Given the description of an element on the screen output the (x, y) to click on. 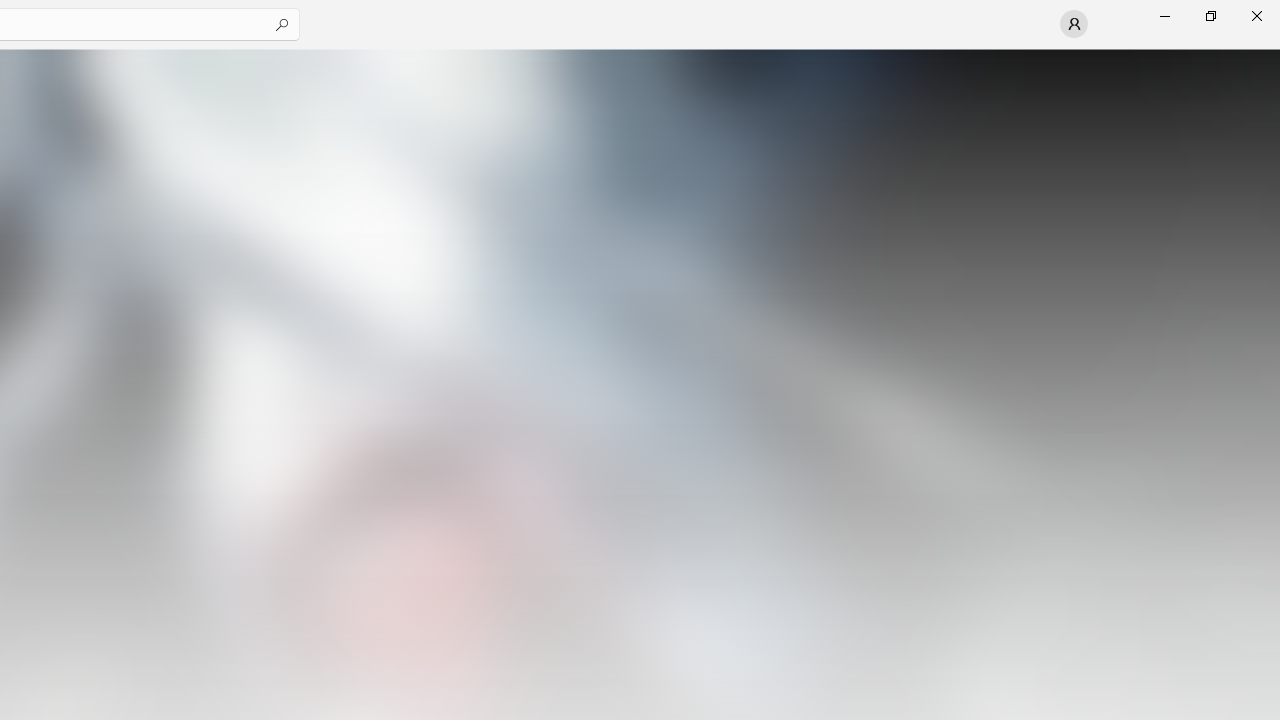
User profile (1073, 24)
Minimize Microsoft Store (1164, 15)
Close Microsoft Store (1256, 15)
Restore Microsoft Store (1210, 15)
